Given the description of an element on the screen output the (x, y) to click on. 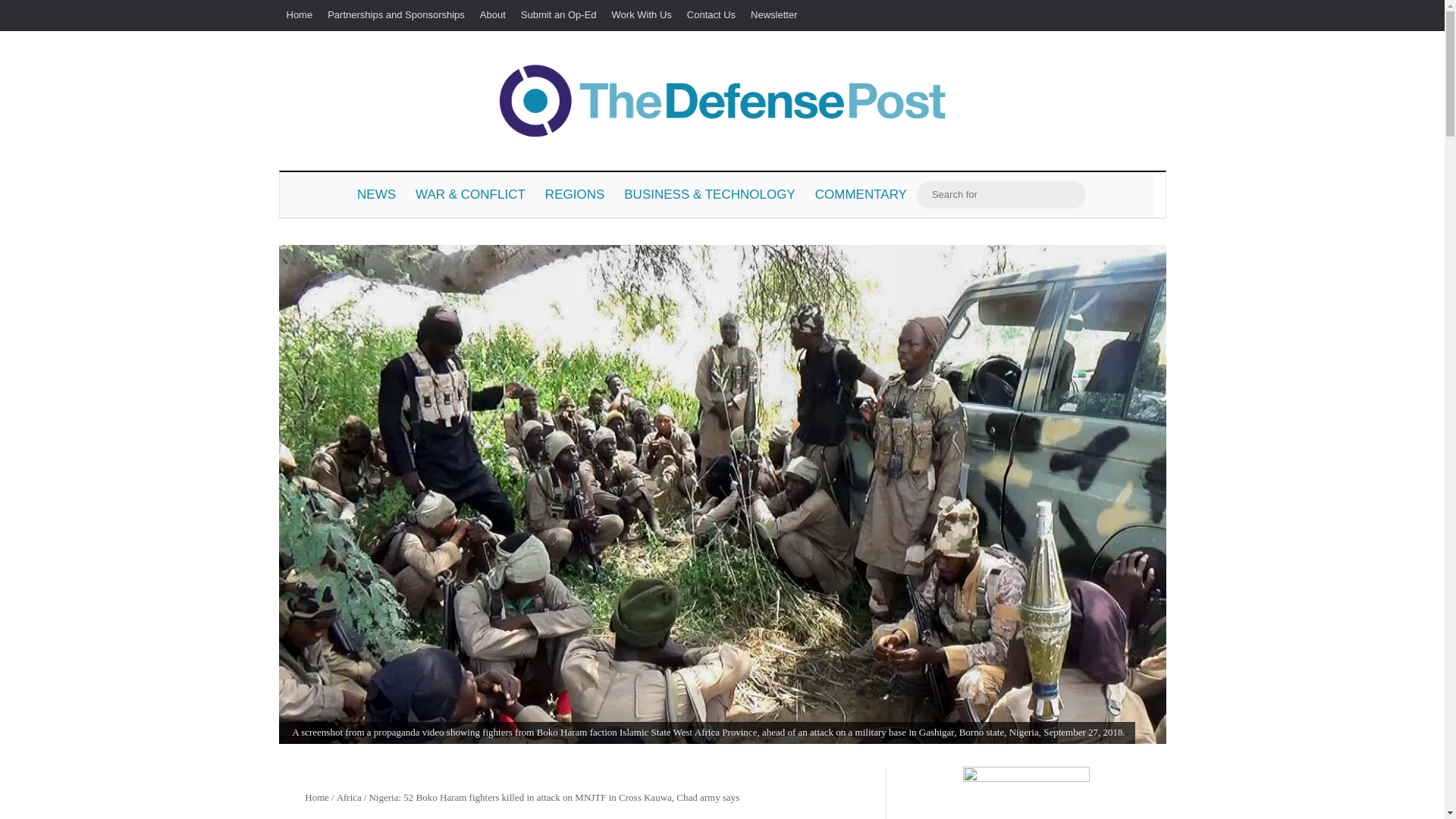
NEWS (376, 194)
REGIONS (574, 194)
Global defense news, analysis and opinion (722, 100)
Home (299, 15)
Home (315, 797)
Newsletter (773, 15)
Search for (1001, 194)
Contact Us (710, 15)
Search for (1070, 194)
COMMENTARY (861, 194)
